Given the description of an element on the screen output the (x, y) to click on. 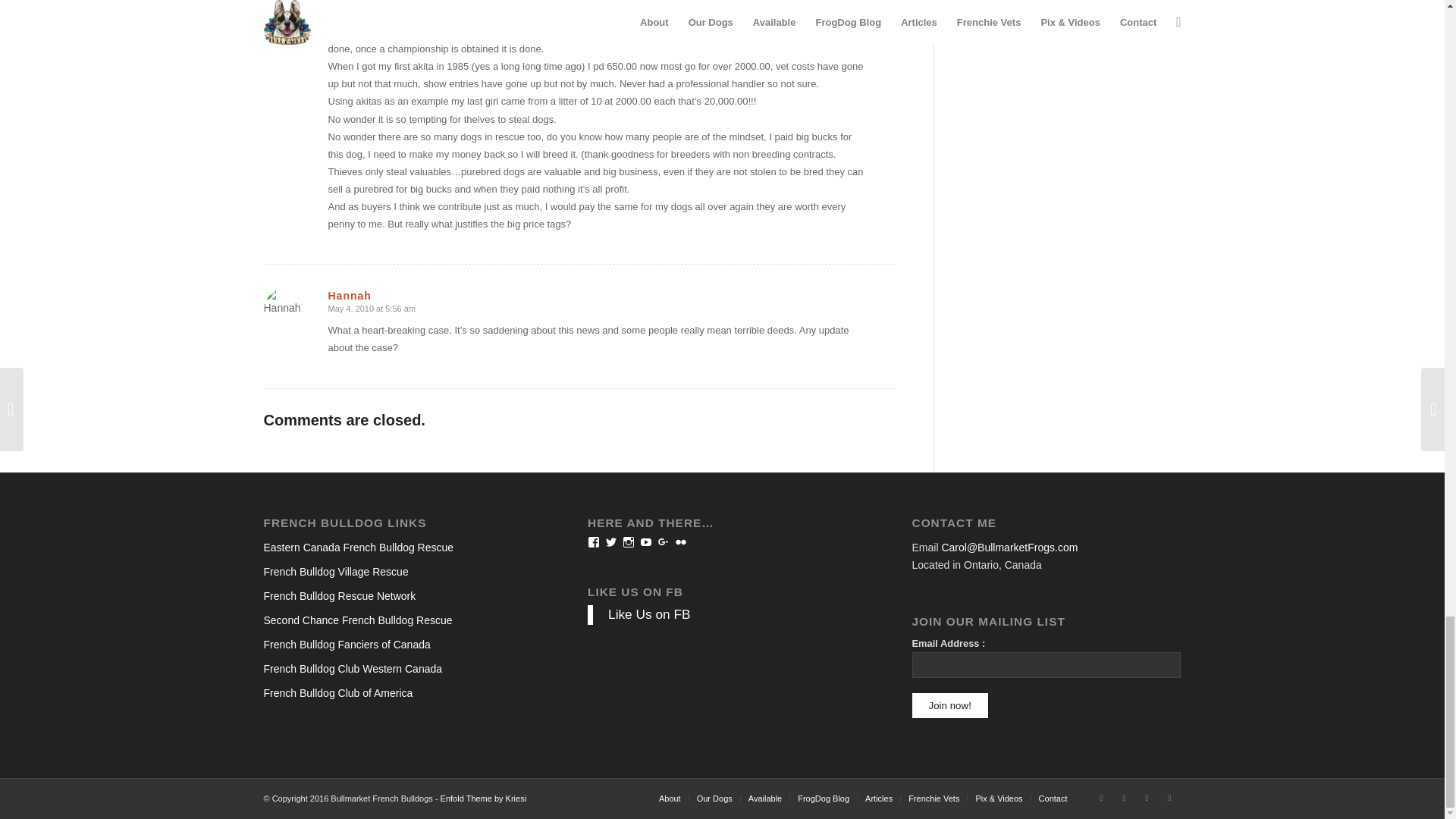
Join now! (950, 705)
